Given the description of an element on the screen output the (x, y) to click on. 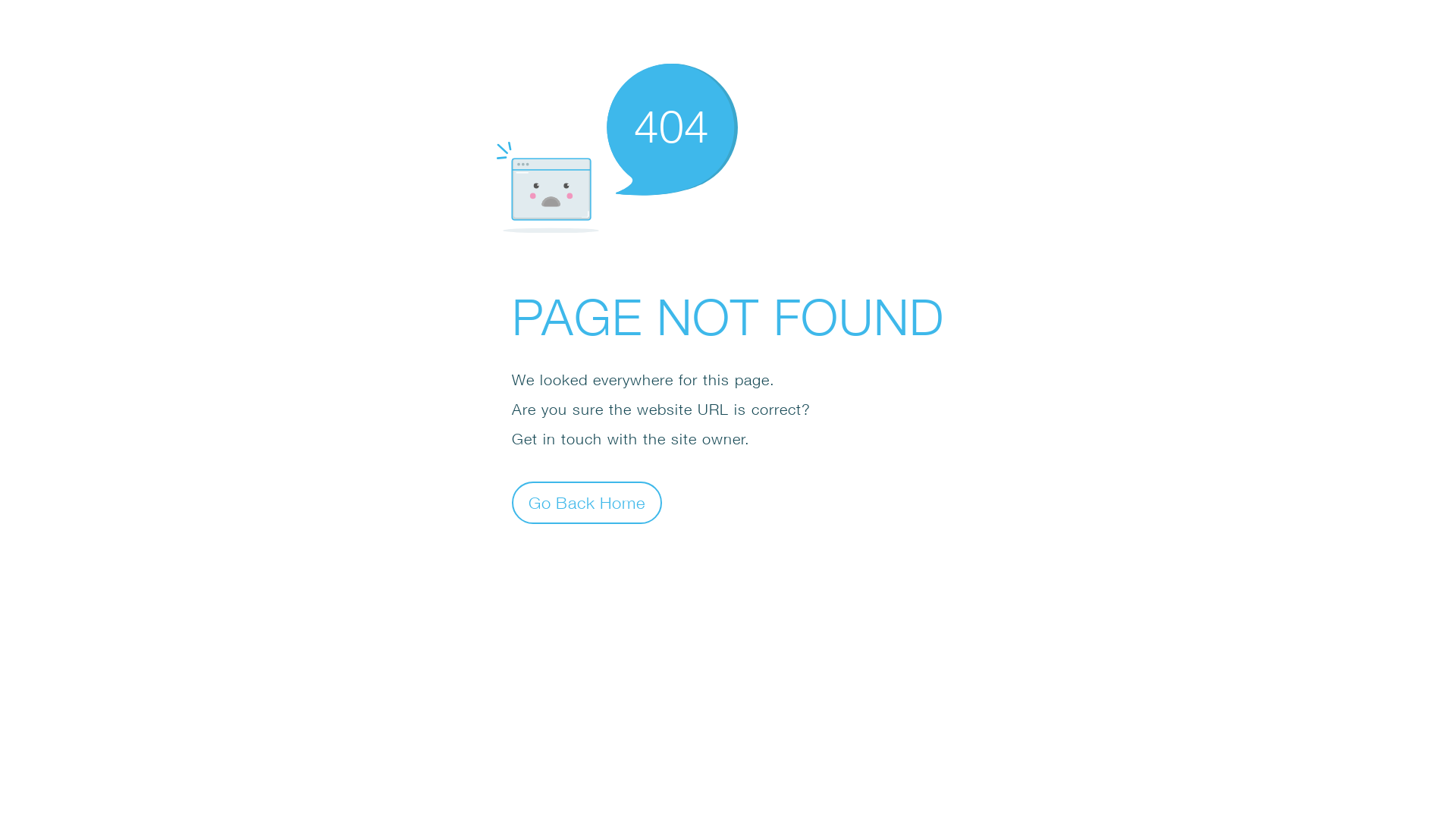
Go Back Home Element type: text (586, 502)
